Given the description of an element on the screen output the (x, y) to click on. 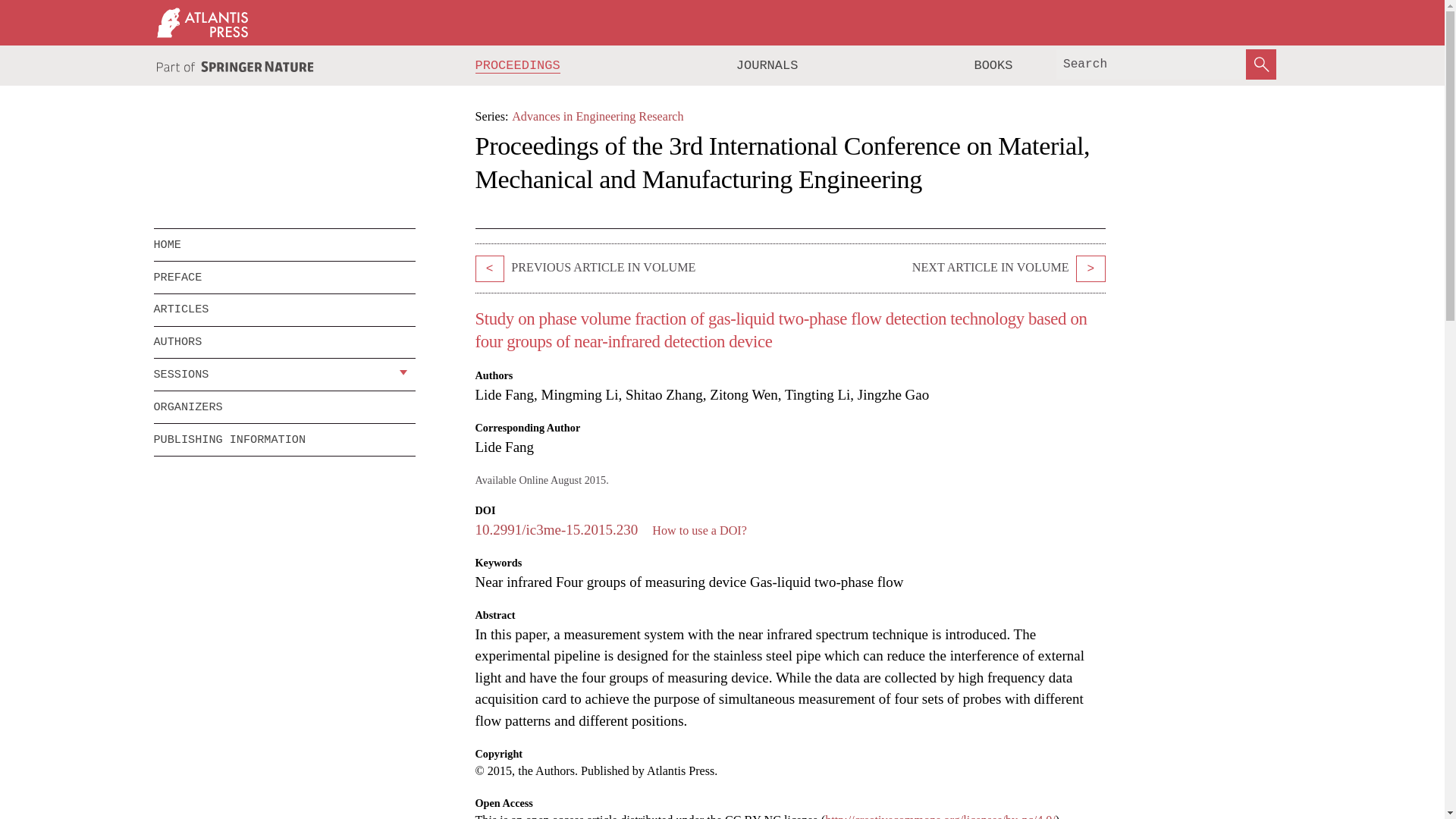
SESSIONS (273, 374)
BOOKS (992, 65)
Atlantis Press is Part of Springer Nature (234, 66)
PUBLISHING INFORMATION (283, 439)
PREFACE (283, 277)
PROCEEDINGS (518, 65)
Atlantis Press (201, 22)
Advances in Engineering Research (597, 115)
How to use a DOI? (699, 530)
